Given the description of an element on the screen output the (x, y) to click on. 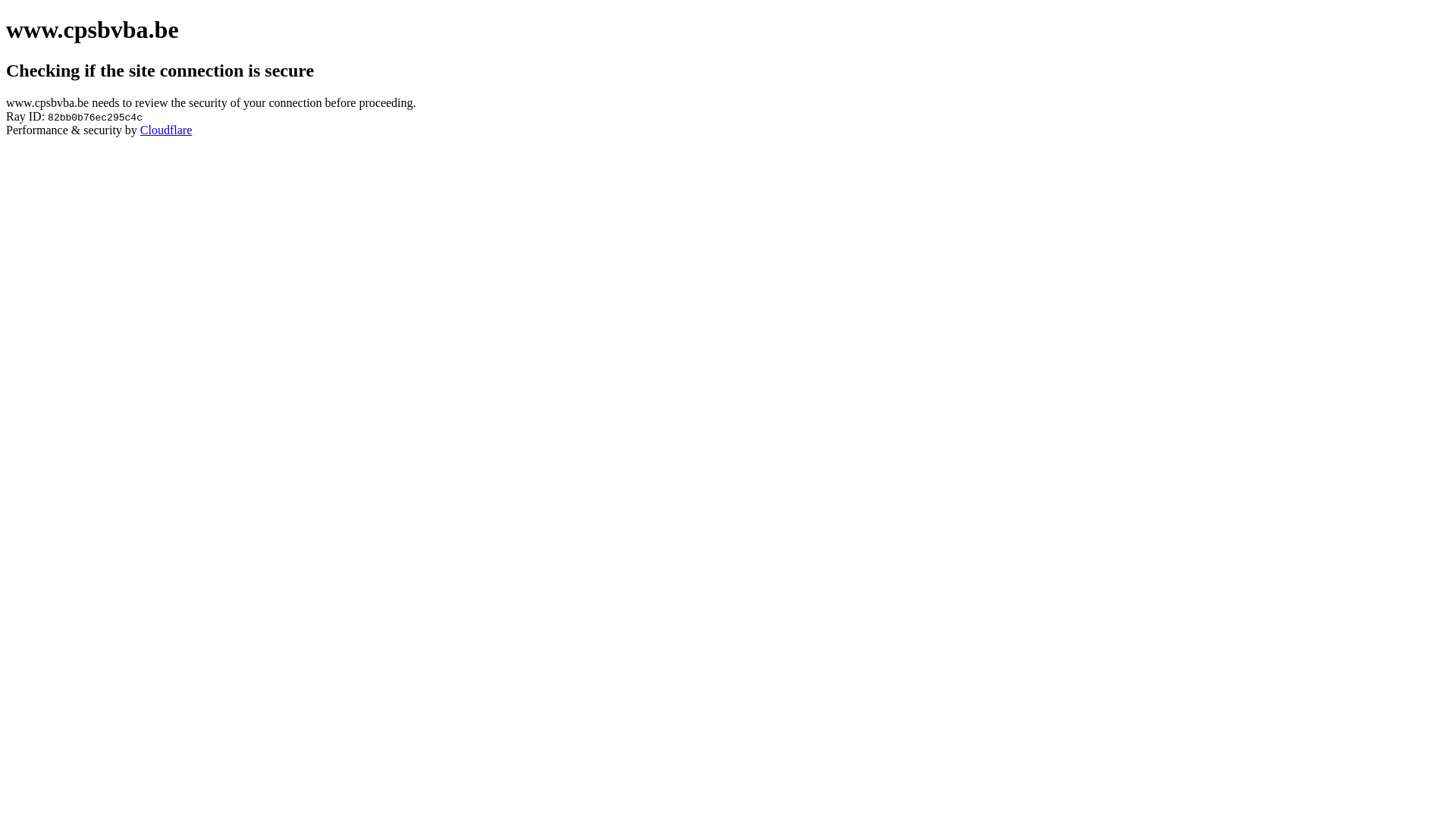
Cloudflare Element type: text (165, 129)
